Given the description of an element on the screen output the (x, y) to click on. 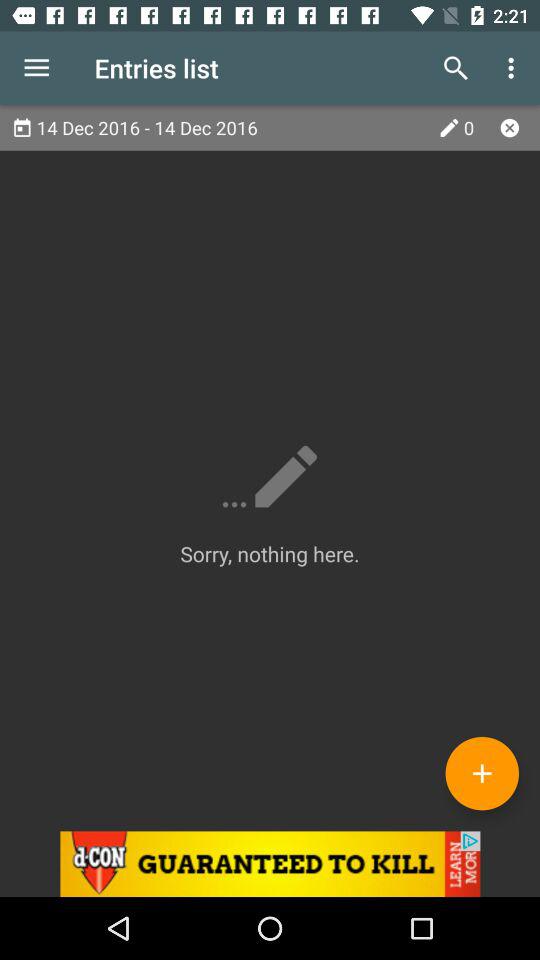
close the list (509, 127)
